Given the description of an element on the screen output the (x, y) to click on. 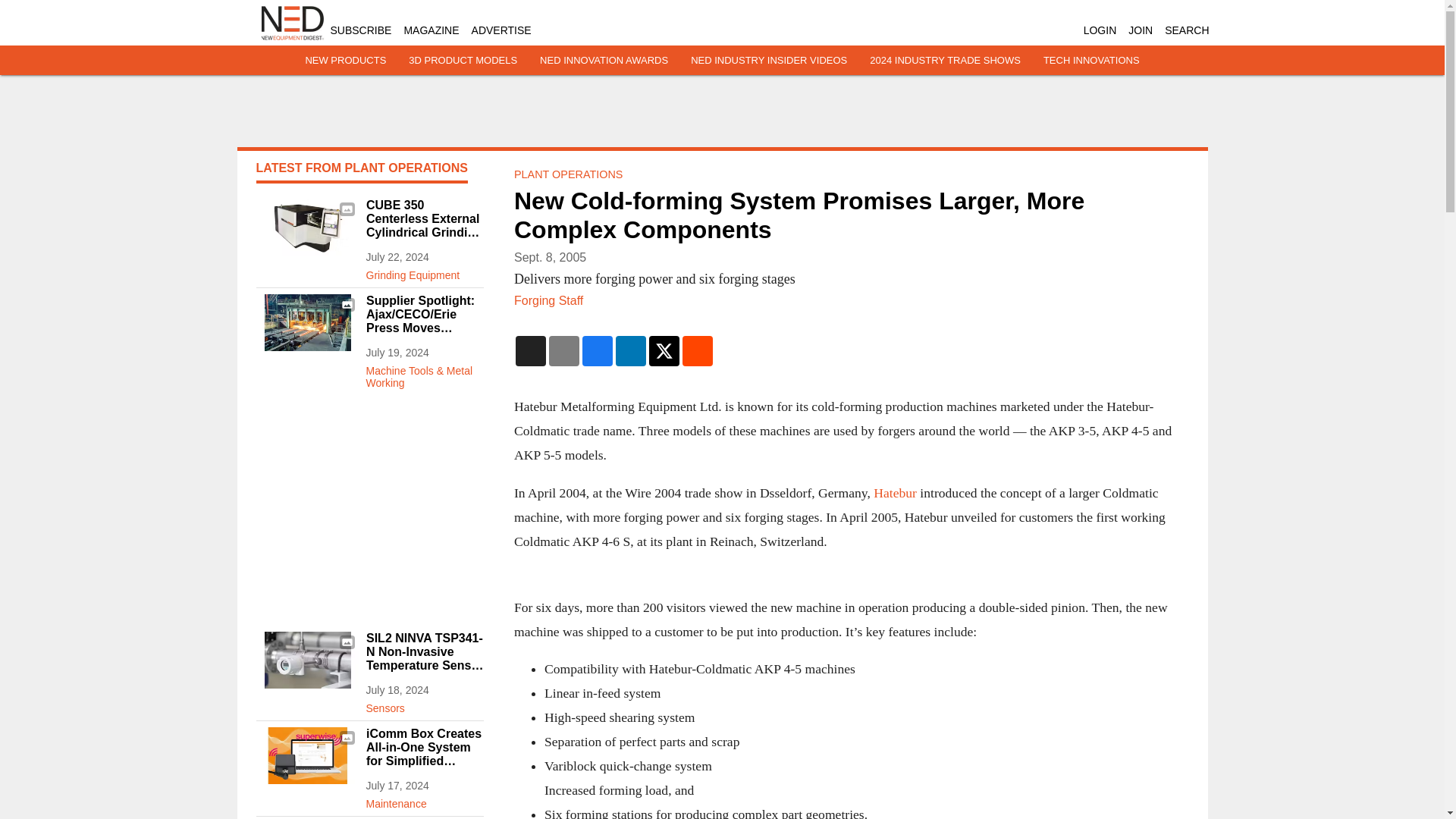
MAGAZINE (430, 30)
2024 INDUSTRY TRADE SHOWS (944, 60)
SUBSCRIBE (360, 30)
ADVERTISE (501, 30)
Grinding Equipment (424, 271)
NEW PRODUCTS (344, 60)
TECH INNOVATIONS (1091, 60)
igus iComm Box (307, 755)
JOIN (1140, 30)
